Given the description of an element on the screen output the (x, y) to click on. 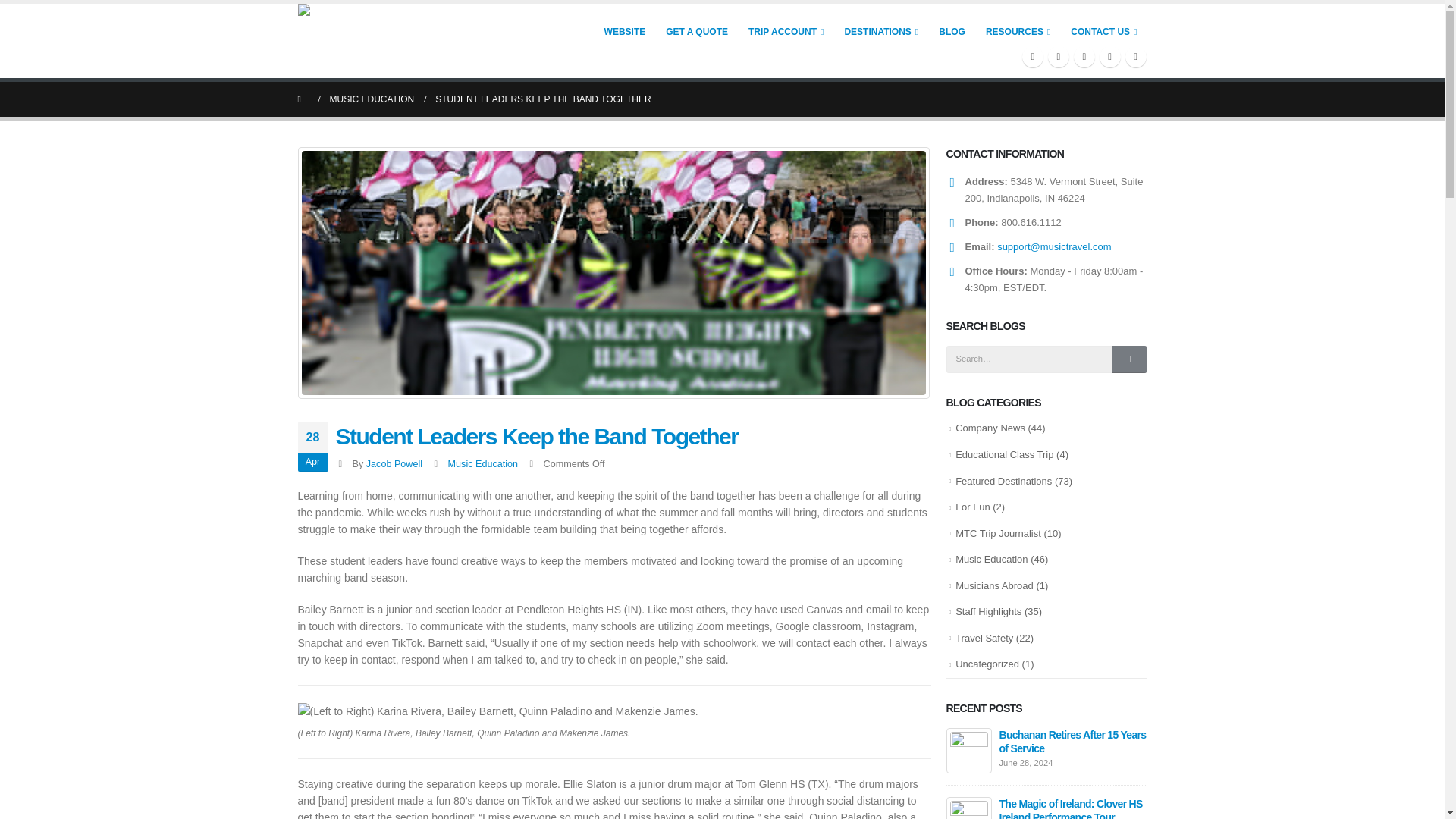
Facebook (1032, 56)
Posts by Jacob Powell (394, 463)
GET A QUOTE (697, 30)
Instagram (1110, 56)
WEBSITE (625, 30)
DESTINATIONS (881, 30)
BLOG (951, 30)
Twitter (1058, 56)
Youtube (1084, 56)
LinkedIn (1136, 56)
